Given the description of an element on the screen output the (x, y) to click on. 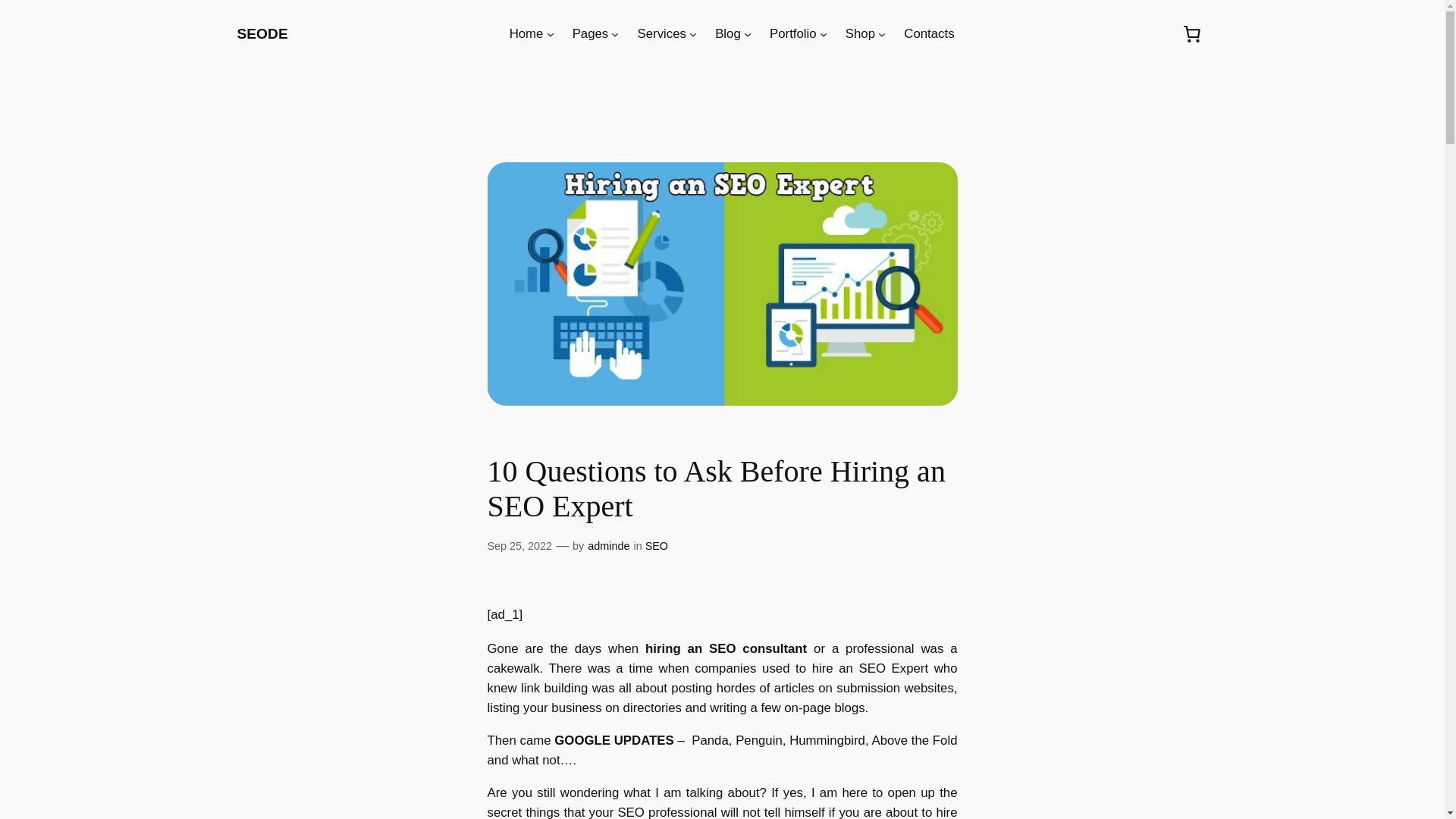
Blog (727, 34)
SEODE (260, 33)
Home (526, 34)
Services (661, 34)
Pages (590, 34)
